Given the description of an element on the screen output the (x, y) to click on. 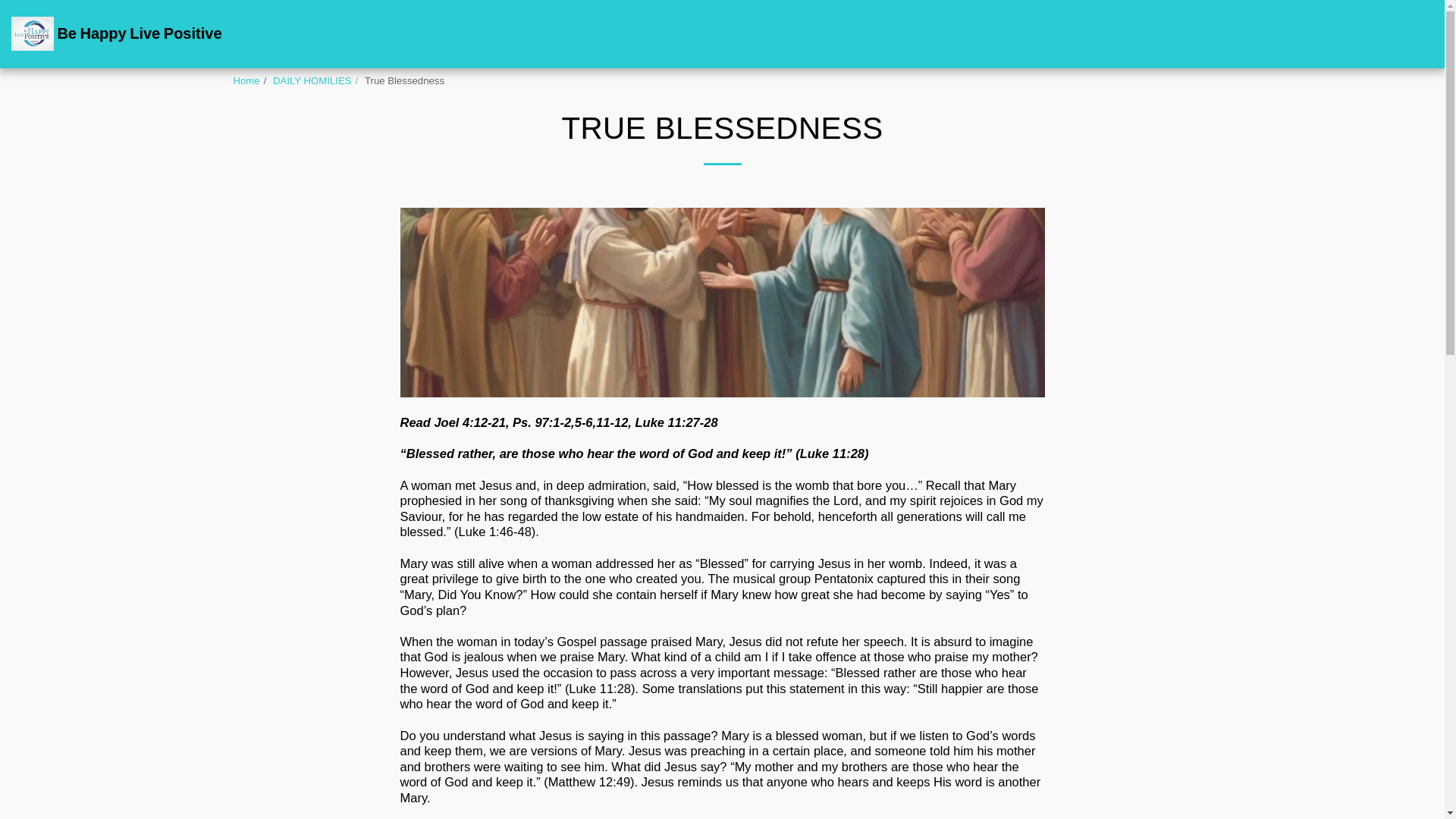
DAILY HOMILIES (312, 80)
Home (246, 80)
Be Happy Live Positive (116, 33)
